Given the description of an element on the screen output the (x, y) to click on. 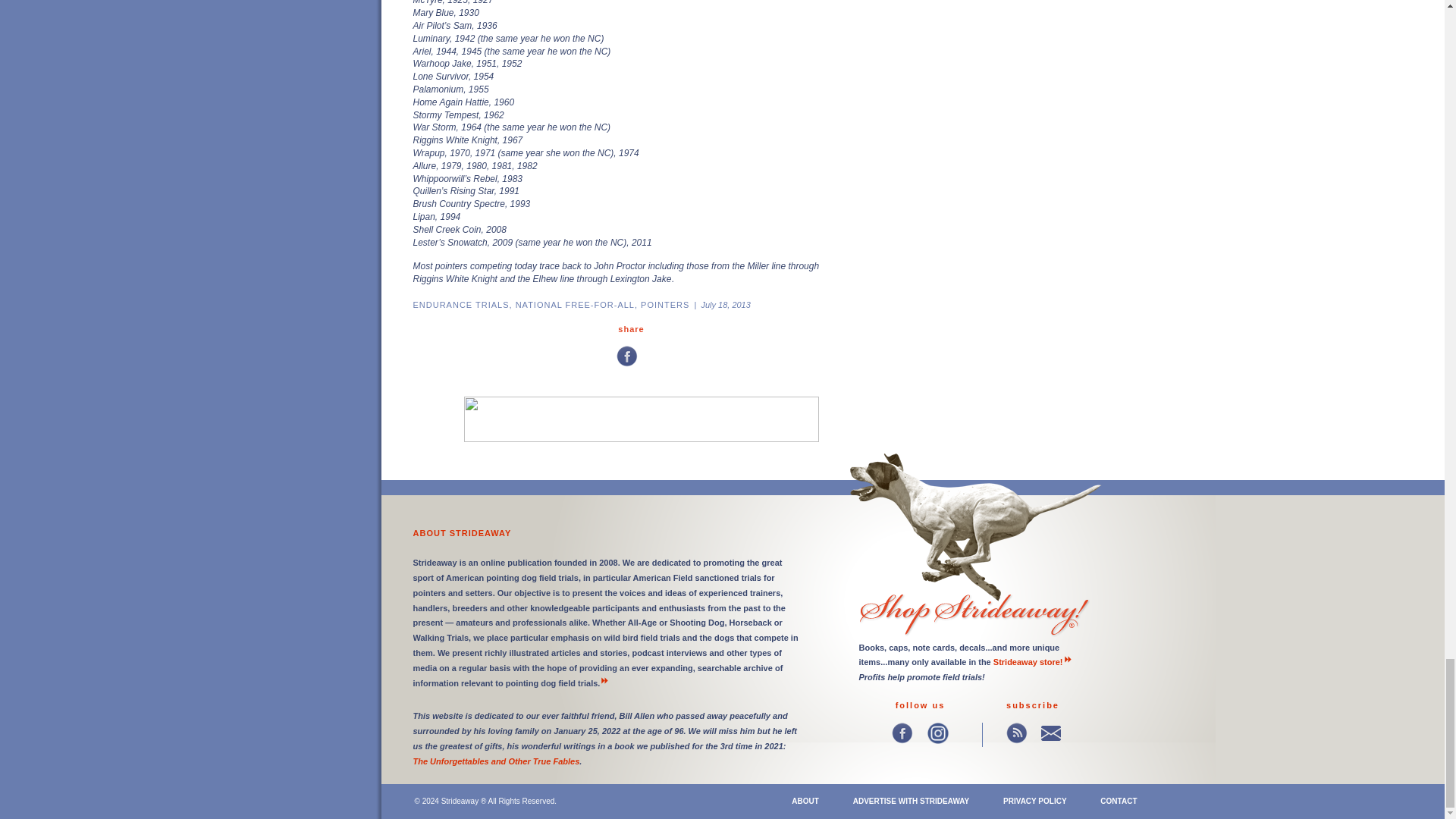
POINTERS (664, 304)
NATIONAL FREE-FOR-ALL (574, 304)
July 18, 2013 (724, 304)
Advertise with Strideaway (911, 800)
ENDURANCE TRIALS (460, 304)
About (805, 800)
